Given the description of an element on the screen output the (x, y) to click on. 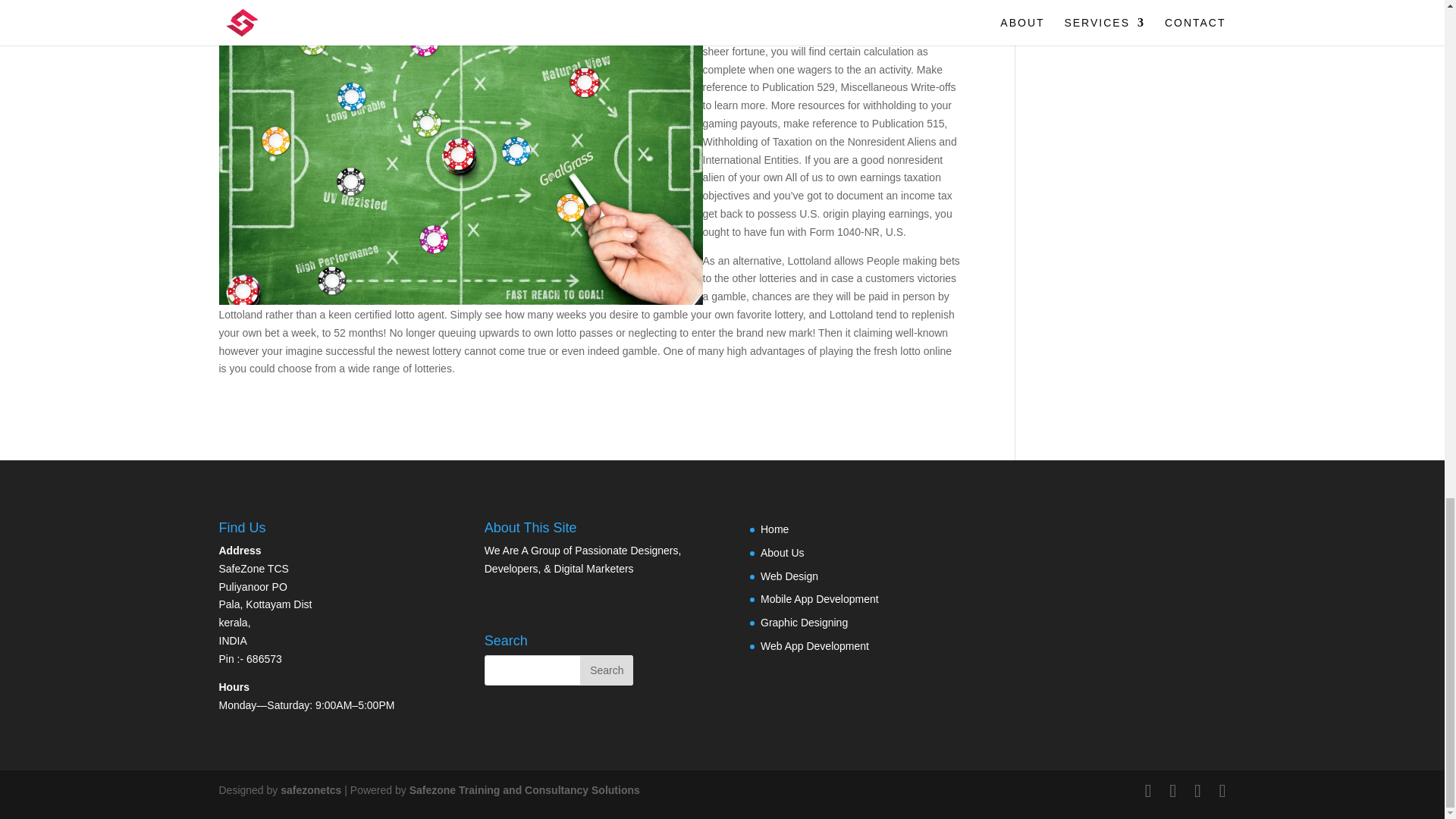
Web App Development (814, 645)
Mobile App Development (819, 598)
Home (774, 529)
Search (606, 670)
safezonetcs (310, 789)
Graphic Designing (803, 622)
Safezone Training and Consultancy Solutions (524, 789)
Search (606, 670)
Towards productivity (524, 789)
About Us (782, 552)
